Given the description of an element on the screen output the (x, y) to click on. 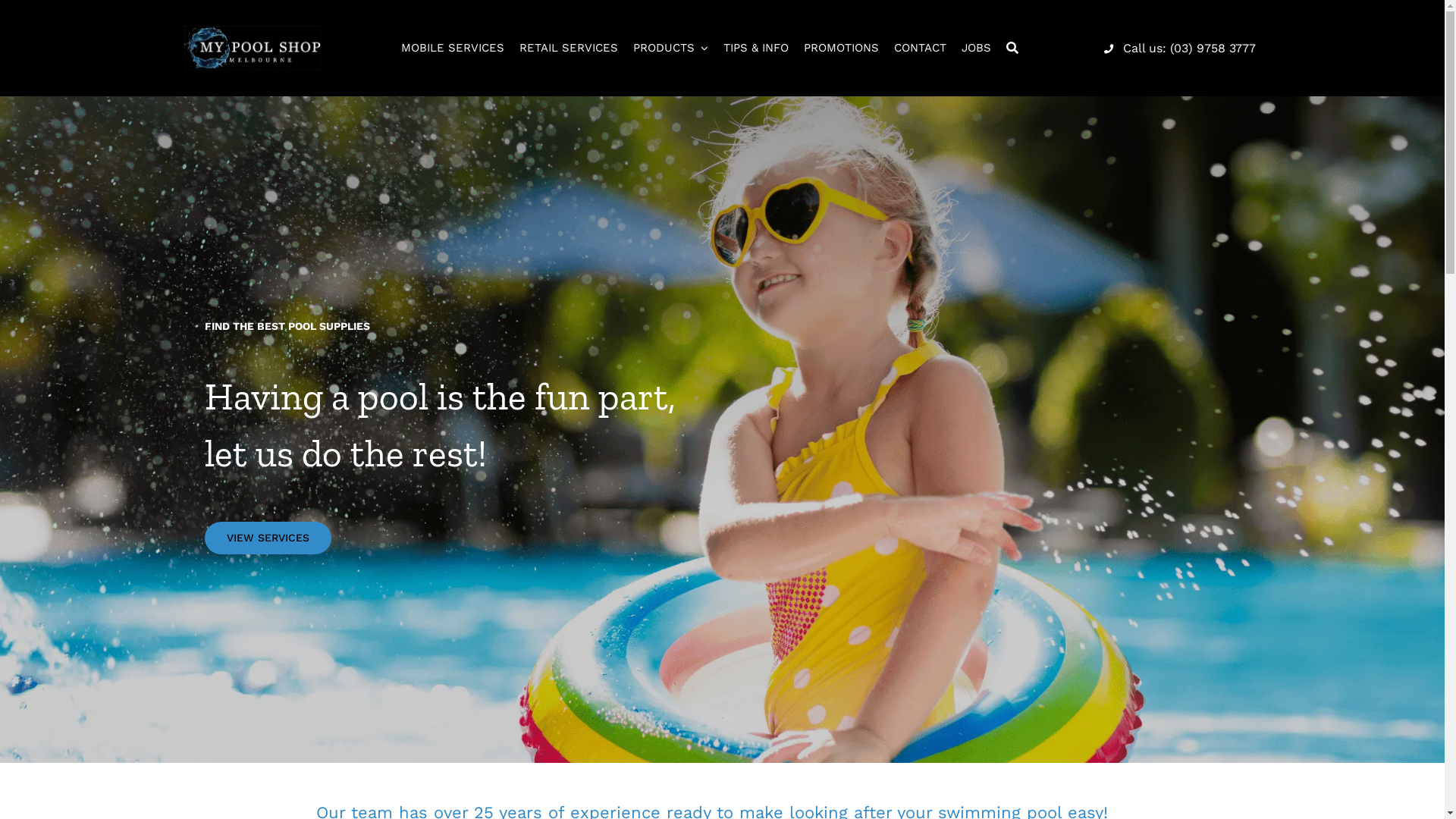
Search Element type: hover (1012, 48)
PROMOTIONS Element type: text (840, 48)
RETAIL SERVICES Element type: text (568, 48)
PRODUCTS Element type: text (670, 48)
JOBS Element type: text (976, 48)
MOBILE SERVICES Element type: text (452, 48)
VIEW SERVICES Element type: text (267, 537)
TIPS & INFO Element type: text (755, 48)
CONTACT Element type: text (920, 48)
Call us: (03) 9758 3777 Element type: text (1176, 46)
